Given the description of an element on the screen output the (x, y) to click on. 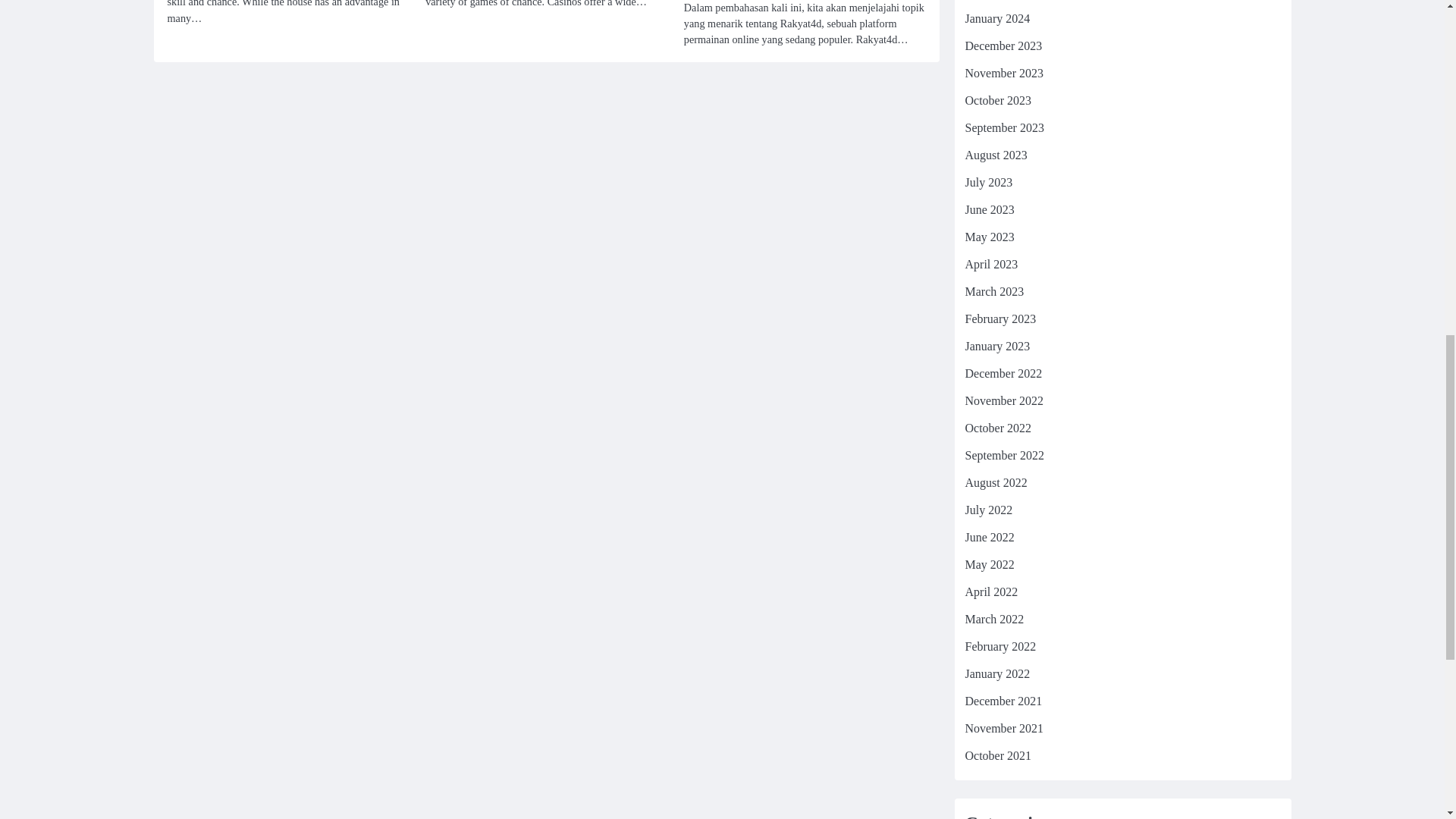
December 2023 (1002, 45)
September 2023 (1003, 127)
July 2023 (987, 182)
May 2023 (988, 236)
November 2023 (1003, 72)
October 2023 (996, 100)
August 2023 (994, 154)
January 2024 (996, 18)
June 2023 (988, 209)
